Given the description of an element on the screen output the (x, y) to click on. 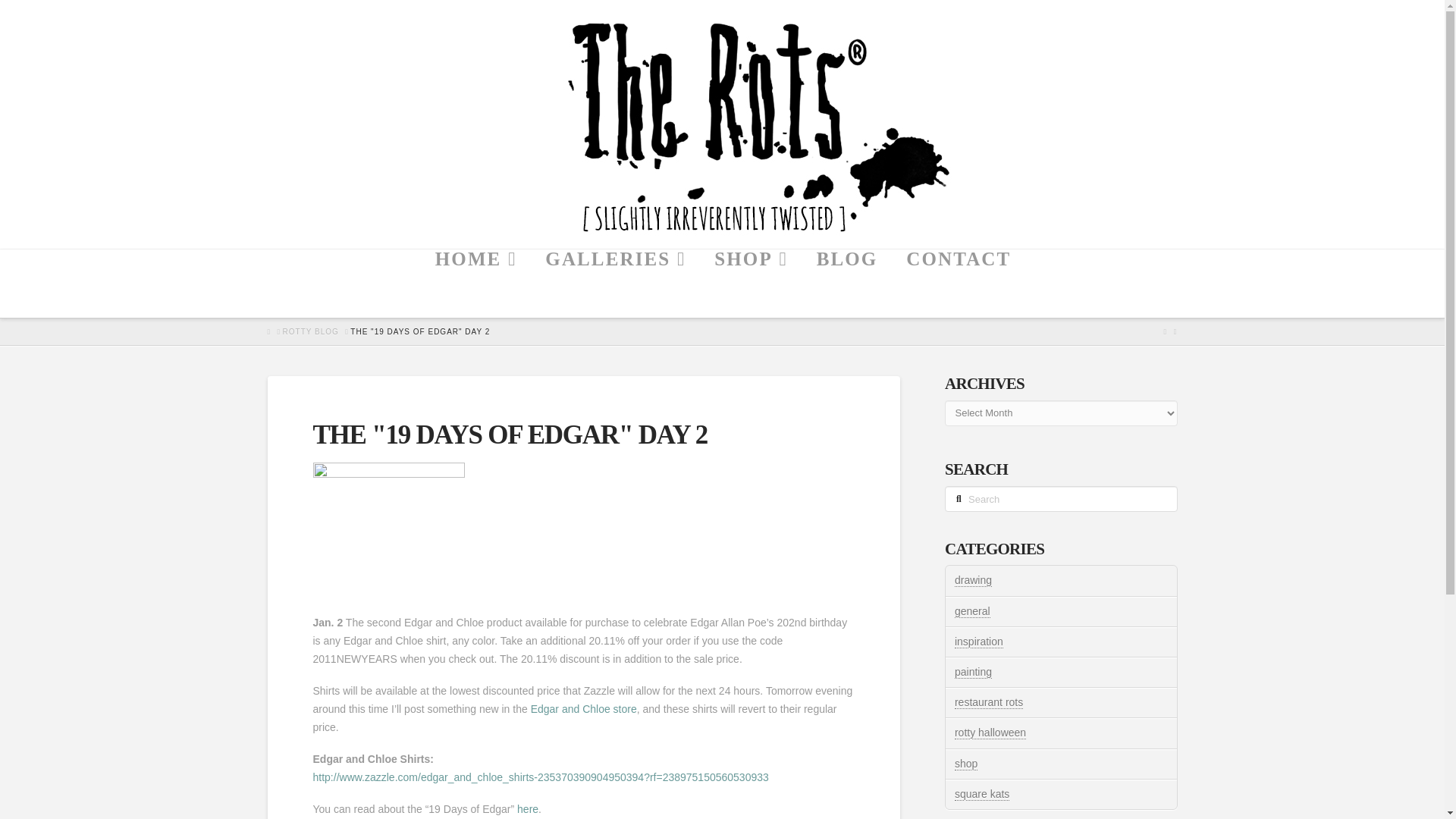
BLOG (846, 283)
HOME (475, 283)
CONTACT (958, 283)
You Are Here (419, 330)
GALLERIES (613, 283)
SHOP (749, 283)
